Given the description of an element on the screen output the (x, y) to click on. 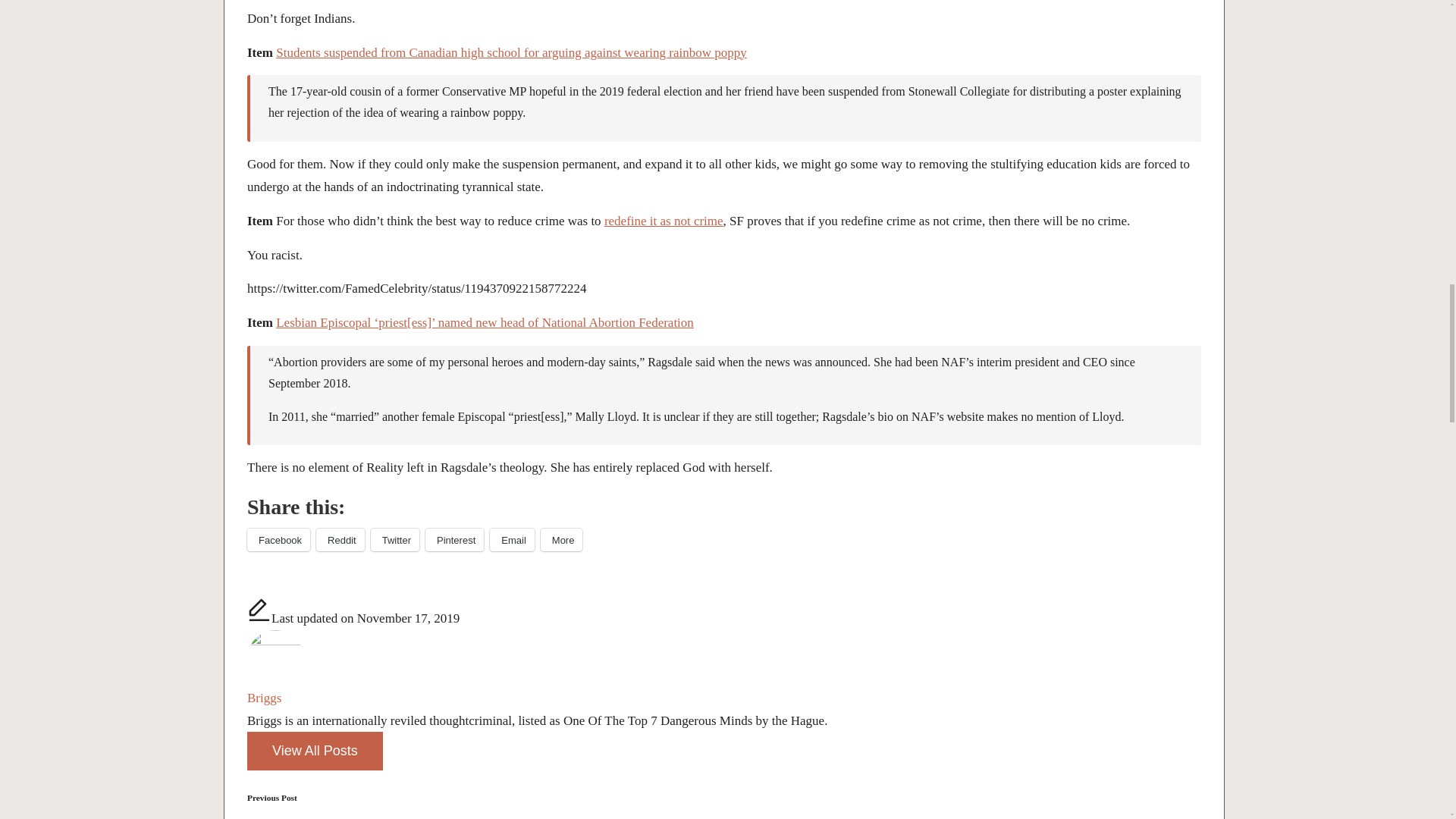
Email (511, 539)
Click to share on Pinterest (454, 539)
Click to share on Twitter (395, 539)
Briggs (264, 698)
Twitter (395, 539)
Click to share on Facebook (278, 539)
Facebook (278, 539)
Click to email a link to a friend (511, 539)
redefine it as not crime (663, 220)
View All Posts (314, 751)
Pinterest (454, 539)
Reddit (340, 539)
Click to share on Reddit (340, 539)
More (561, 539)
